Given the description of an element on the screen output the (x, y) to click on. 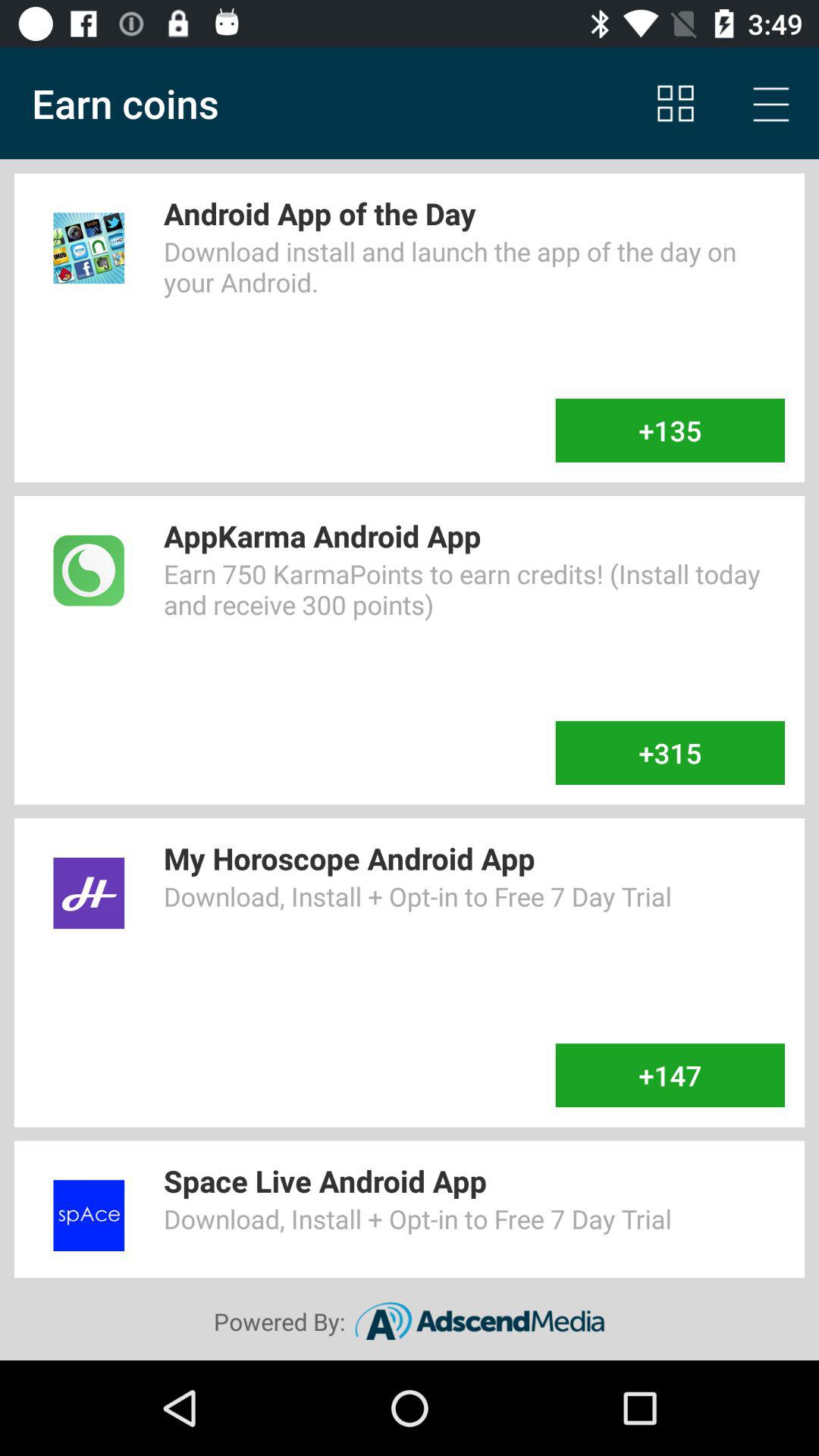
scroll to +135 (669, 430)
